Given the description of an element on the screen output the (x, y) to click on. 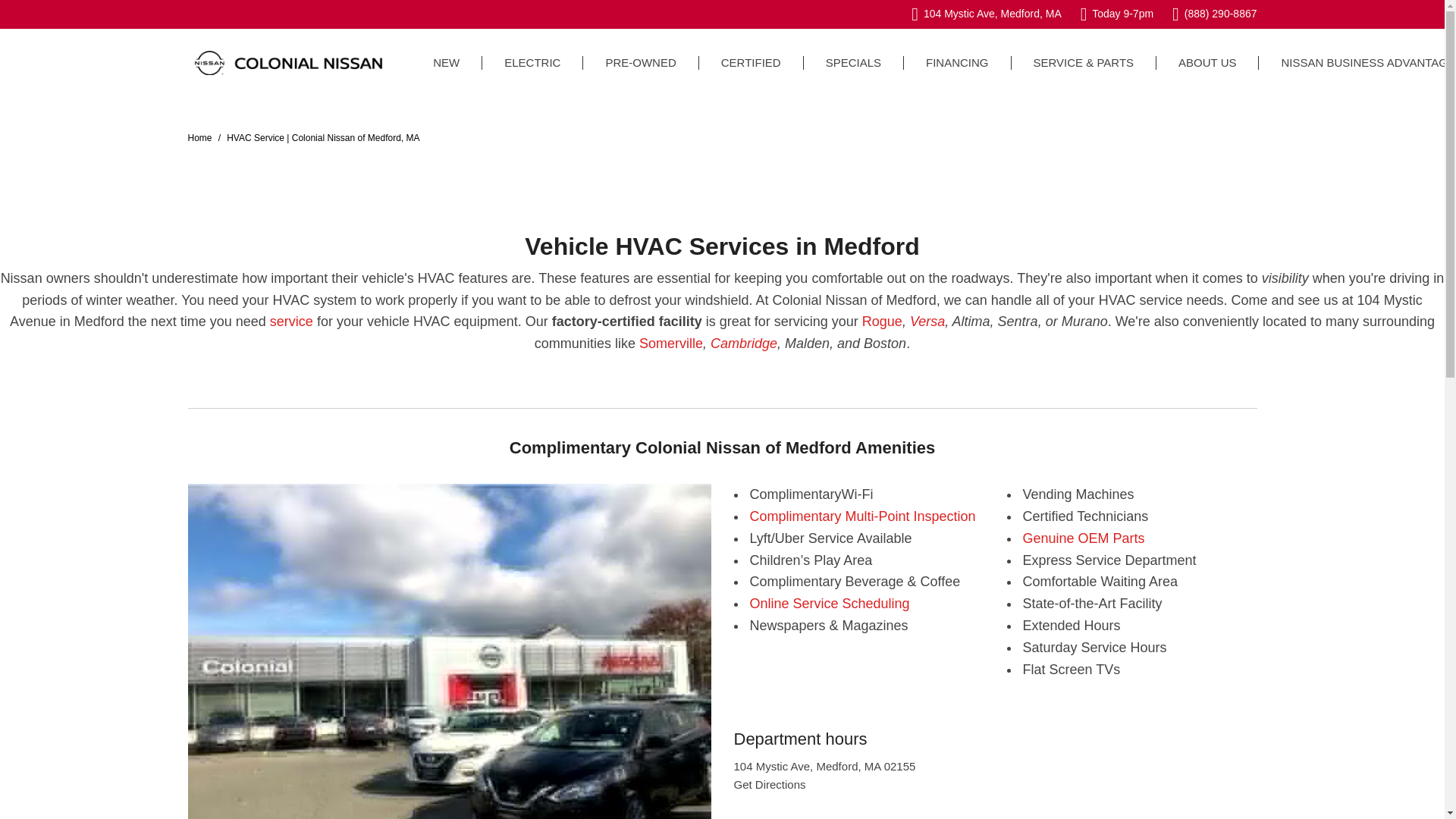
Today 9-7pm (1116, 14)
NEW (445, 62)
Colonial Nissan (287, 62)
104 Mystic Ave, Medford, MA (986, 14)
ELECTRIC (532, 62)
